Given the description of an element on the screen output the (x, y) to click on. 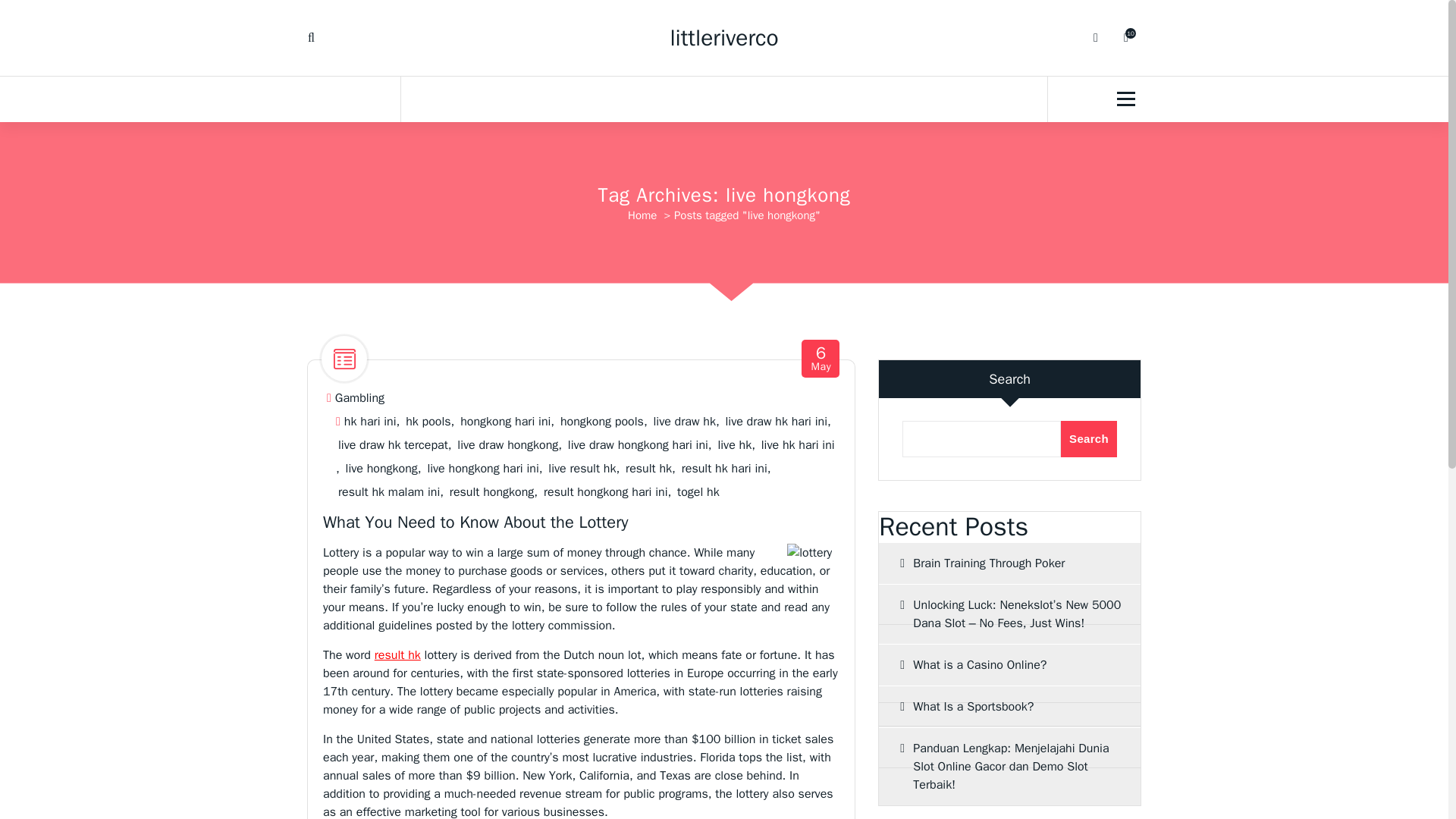
live result hk (581, 468)
result hongkong (491, 492)
live hongkong (381, 468)
result hk hari ini (724, 468)
Home (641, 214)
littleriverco (723, 37)
live draw hongkong hari ini (637, 445)
togel hk (698, 492)
result hk (648, 468)
live draw hk hari ini (776, 421)
